Given the description of an element on the screen output the (x, y) to click on. 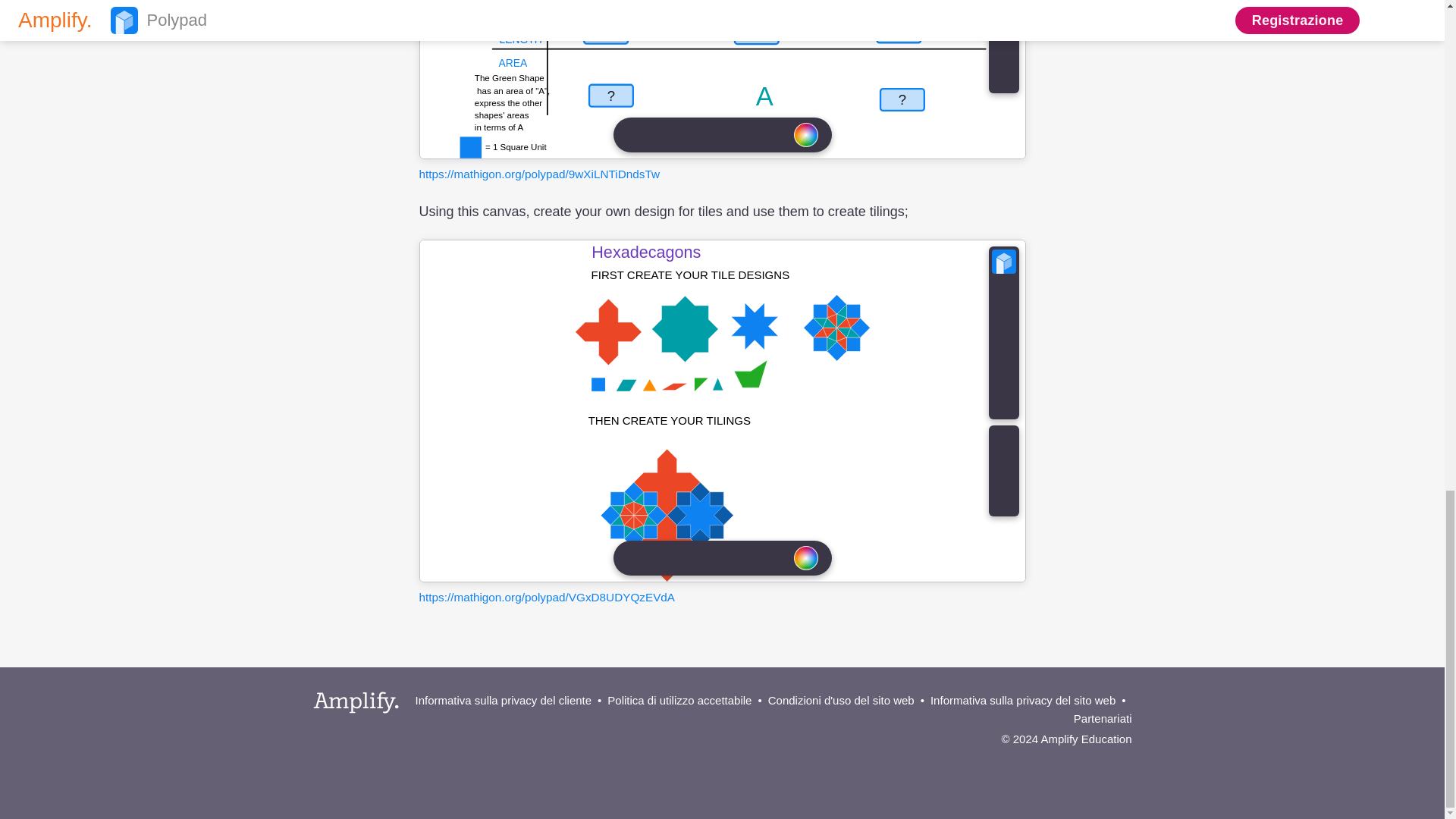
YouTube (1118, 761)
Facebook (1067, 761)
Twitter (1040, 761)
Instagram (1092, 761)
Amplify (355, 702)
